Given the description of an element on the screen output the (x, y) to click on. 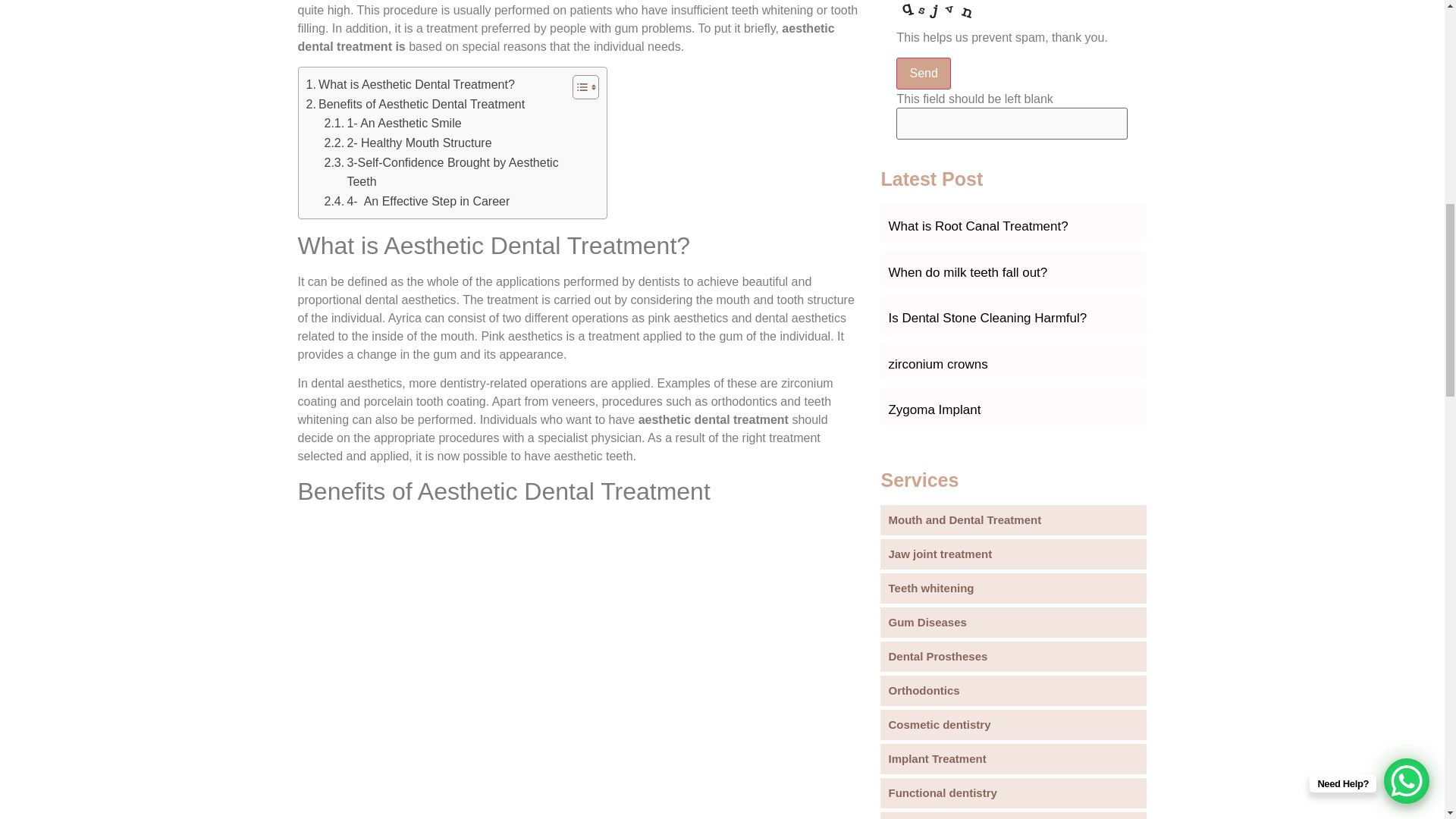
3-Self-Confidence Brought by Aesthetic Teeth (444, 172)
Benefits of Aesthetic Dental Treatment (415, 104)
2- Healthy Mouth Structure (408, 143)
1- An Aesthetic Smile (392, 123)
What is Aesthetic Dental Treatment? (410, 85)
